Given the description of an element on the screen output the (x, y) to click on. 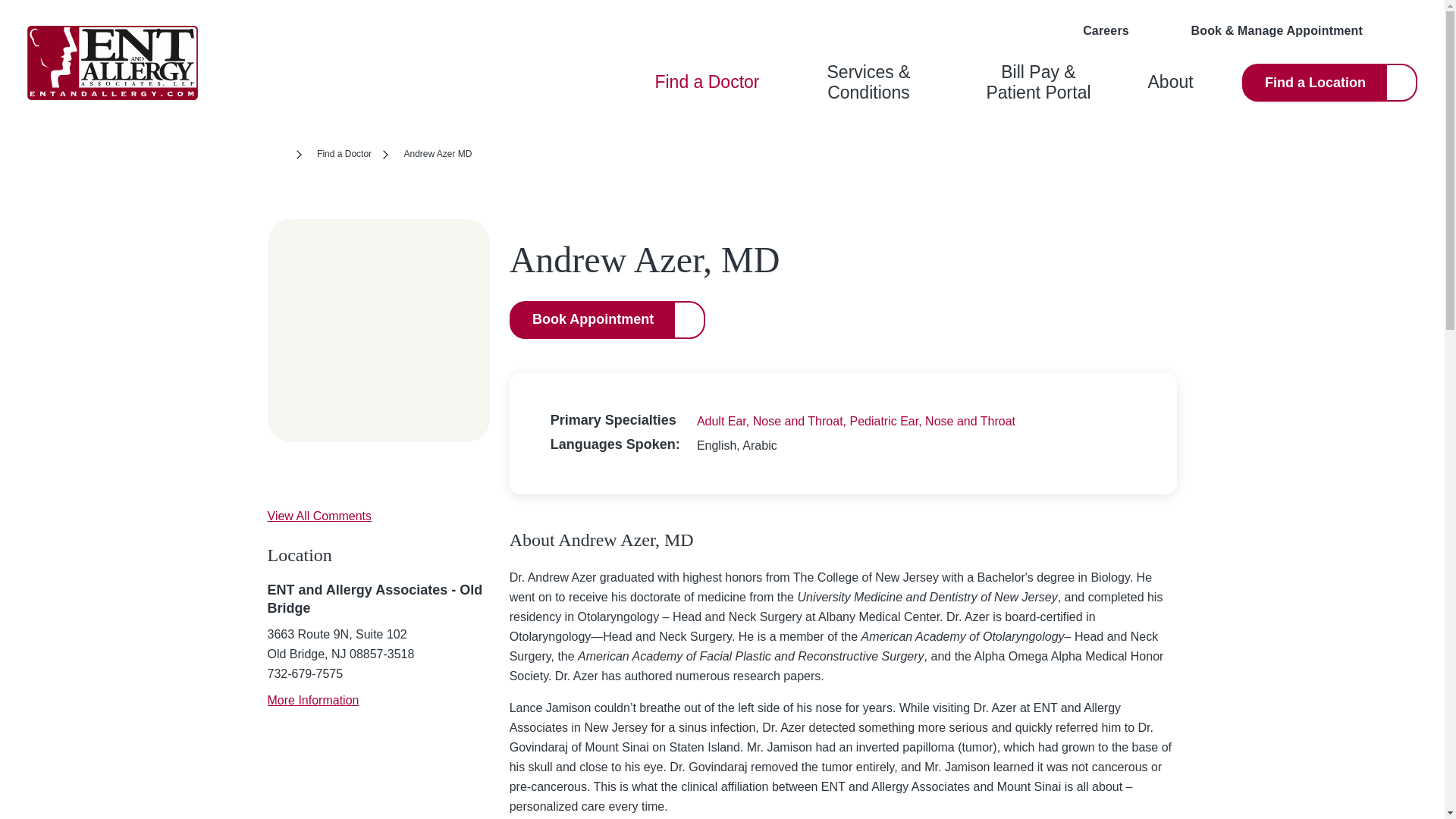
732-679-7575 (304, 673)
View All Comments (318, 515)
Pediatric Ear, Nose and Throat (931, 420)
Careers (1093, 31)
ENT and Allergy Associates (112, 62)
Find a Location (1328, 82)
Adult Ear, Nose and Throat, (773, 420)
More Information (312, 699)
Find a Doctor (344, 154)
Find a Doctor (705, 83)
